Given the description of an element on the screen output the (x, y) to click on. 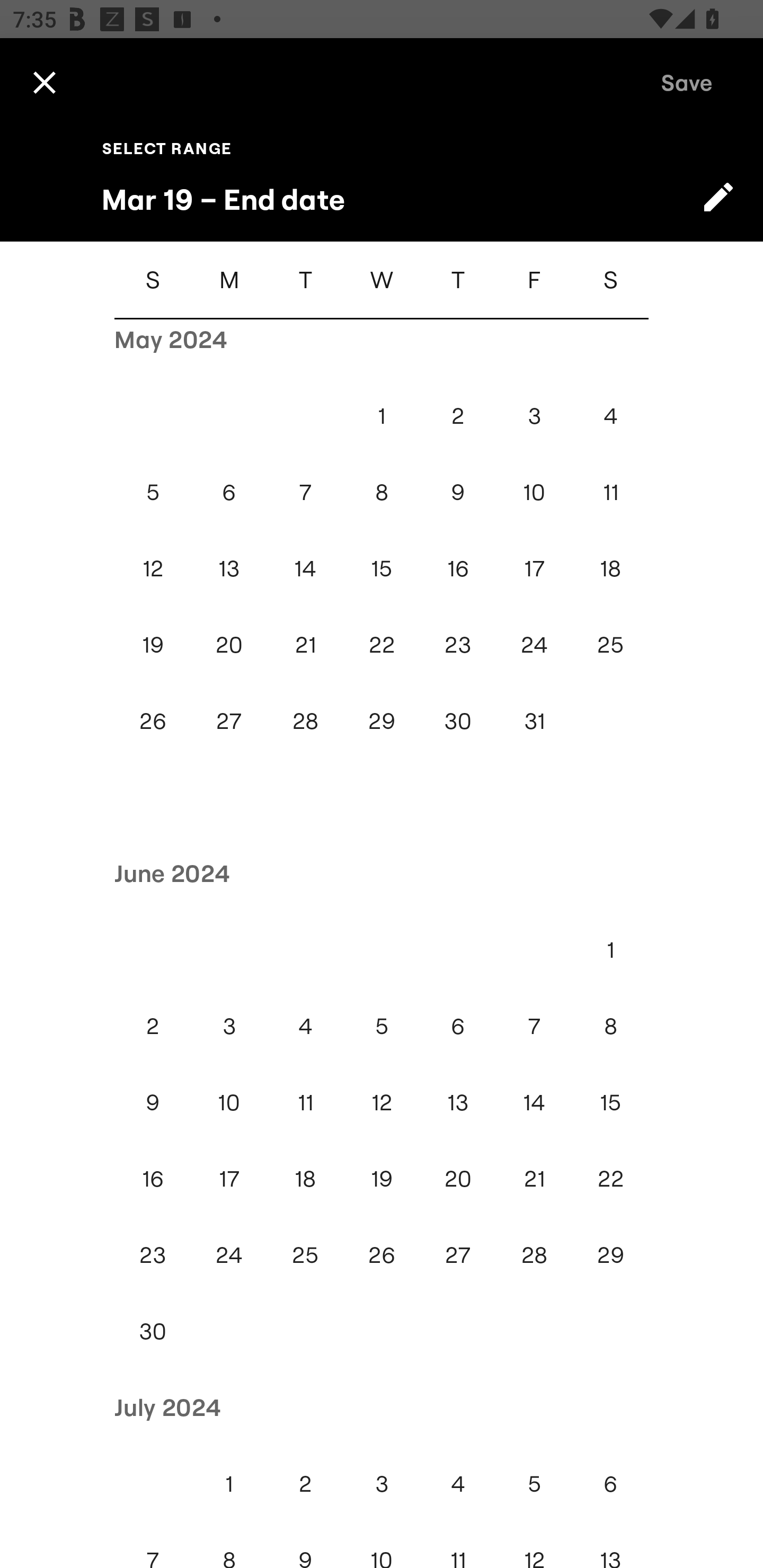
Cancel (44, 81)
Save (686, 81)
Switch to text input mode (718, 196)
1 Wed, May 1 (381, 415)
2 Thu, May 2 (457, 415)
3 Fri, May 3 (533, 415)
4 Sat, May 4 (610, 415)
5 Sun, May 5 (152, 491)
6 Mon, May 6 (228, 491)
7 Tue, May 7 (305, 491)
8 Wed, May 8 (381, 491)
9 Thu, May 9 (457, 491)
10 Fri, May 10 (533, 491)
11 Sat, May 11 (610, 491)
12 Sun, May 12 (152, 567)
13 Mon, May 13 (228, 567)
14 Tue, May 14 (305, 567)
15 Wed, May 15 (381, 567)
16 Thu, May 16 (457, 567)
17 Fri, May 17 (533, 567)
18 Sat, May 18 (610, 567)
19 Sun, May 19 (152, 644)
20 Mon, May 20 (228, 644)
21 Tue, May 21 (305, 644)
22 Wed, May 22 (381, 644)
23 Thu, May 23 (457, 644)
24 Fri, May 24 (533, 644)
25 Sat, May 25 (610, 644)
26 Sun, May 26 (152, 720)
27 Mon, May 27 (228, 720)
28 Tue, May 28 (305, 720)
29 Wed, May 29 (381, 720)
30 Thu, May 30 (457, 720)
31 Fri, May 31 (533, 720)
1 Sat, Jun 1 (610, 949)
2 Sun, Jun 2 (152, 1025)
3 Mon, Jun 3 (228, 1025)
4 Tue, Jun 4 (305, 1025)
5 Wed, Jun 5 (381, 1025)
6 Thu, Jun 6 (457, 1025)
7 Fri, Jun 7 (533, 1025)
8 Sat, Jun 8 (610, 1025)
9 Sun, Jun 9 (152, 1101)
10 Mon, Jun 10 (228, 1101)
11 Tue, Jun 11 (305, 1101)
12 Wed, Jun 12 (381, 1101)
13 Thu, Jun 13 (457, 1101)
14 Fri, Jun 14 (533, 1101)
15 Sat, Jun 15 (610, 1101)
16 Sun, Jun 16 (152, 1177)
17 Mon, Jun 17 (228, 1177)
18 Tue, Jun 18 (305, 1177)
19 Wed, Jun 19 (381, 1177)
20 Thu, Jun 20 (457, 1177)
21 Fri, Jun 21 (533, 1177)
22 Sat, Jun 22 (610, 1177)
23 Sun, Jun 23 (152, 1254)
24 Mon, Jun 24 (228, 1254)
25 Tue, Jun 25 (305, 1254)
26 Wed, Jun 26 (381, 1254)
27 Thu, Jun 27 (457, 1254)
28 Fri, Jun 28 (533, 1254)
29 Sat, Jun 29 (610, 1254)
30 Sun, Jun 30 (152, 1330)
1 Mon, Jul 1 (228, 1483)
2 Tue, Jul 2 (305, 1483)
3 Wed, Jul 3 (381, 1483)
4 Thu, Jul 4 (457, 1483)
5 Fri, Jul 5 (533, 1483)
6 Sat, Jul 6 (610, 1483)
7 Sun, Jul 7 (152, 1545)
8 Mon, Jul 8 (228, 1545)
9 Tue, Jul 9 (305, 1545)
10 Wed, Jul 10 (381, 1545)
11 Thu, Jul 11 (457, 1545)
12 Fri, Jul 12 (533, 1545)
13 Sat, Jul 13 (610, 1545)
